Given the description of an element on the screen output the (x, y) to click on. 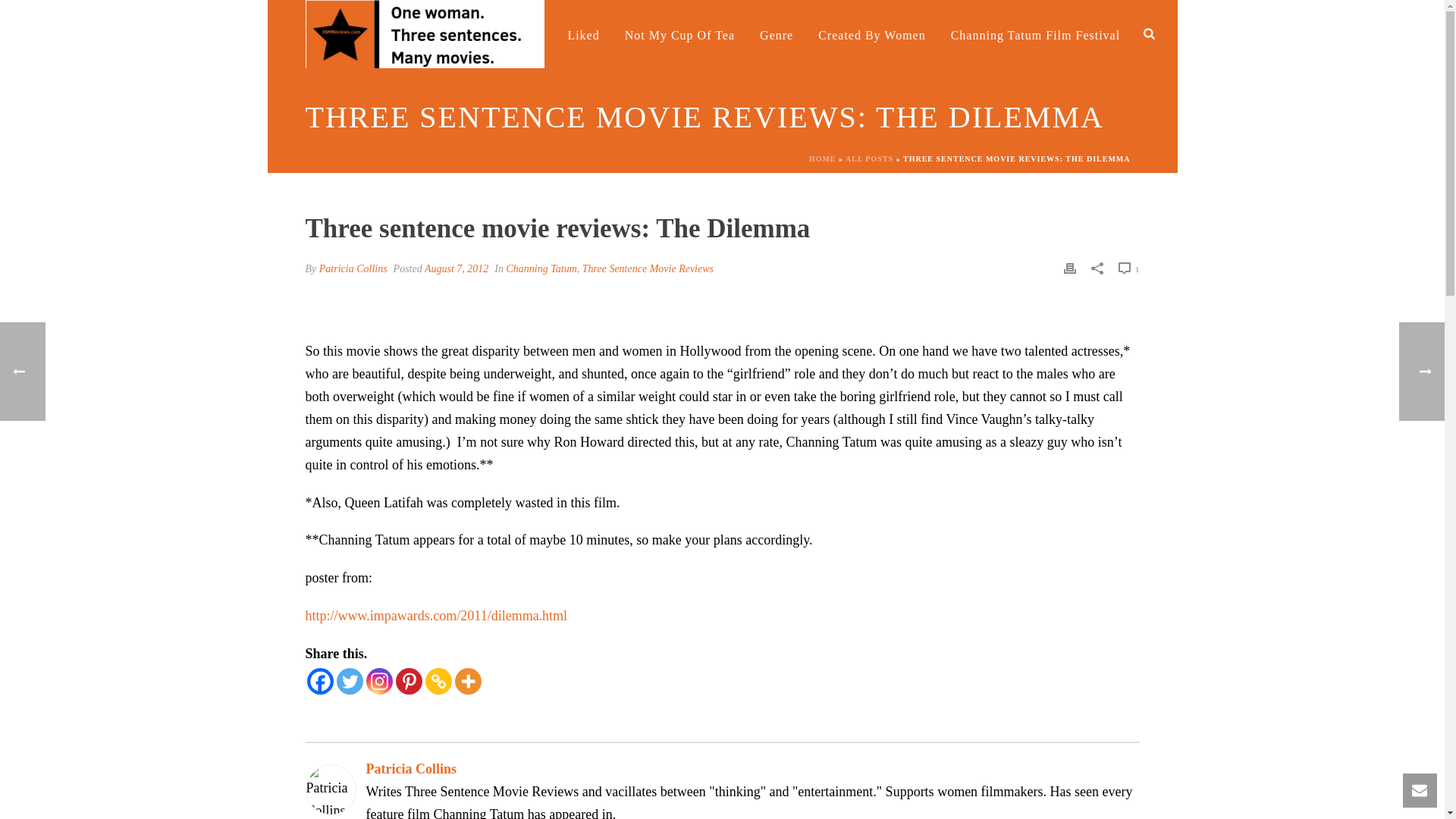
Three Sentence Movie Reviews (647, 267)
Channing Tatum Film Festival (1035, 33)
Not My Cup Of Tea (679, 33)
Twitter (349, 681)
HOME (822, 158)
Not My Cup Of Tea (679, 33)
Created By Women (871, 33)
Liked (582, 33)
1 (1128, 268)
August 7, 2012 (456, 267)
Home (525, 33)
Pinterest (409, 681)
Genre (776, 33)
Copy Link (438, 681)
Channing Tatum (541, 267)
